Given the description of an element on the screen output the (x, y) to click on. 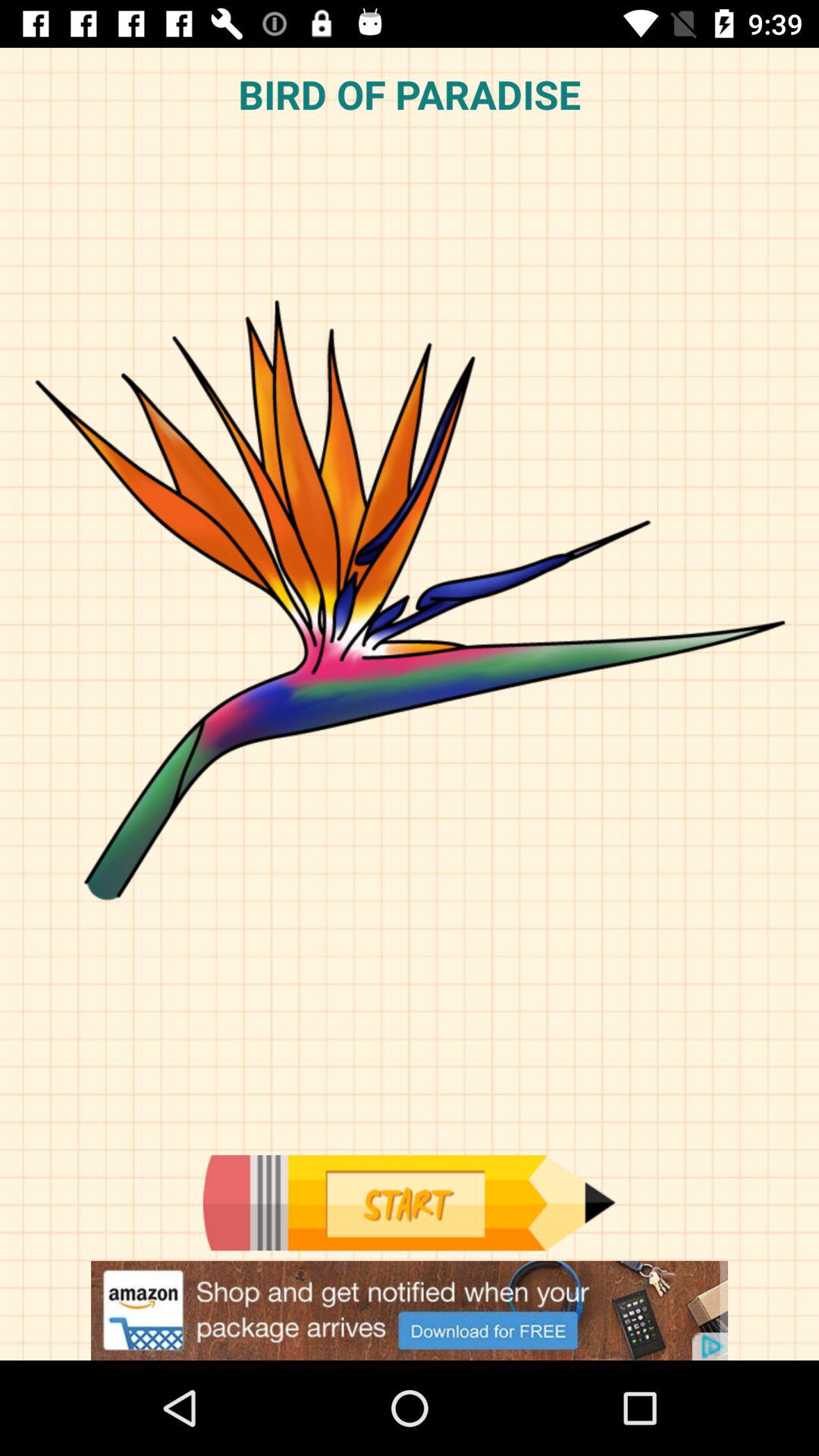
share the article (409, 1310)
